Given the description of an element on the screen output the (x, y) to click on. 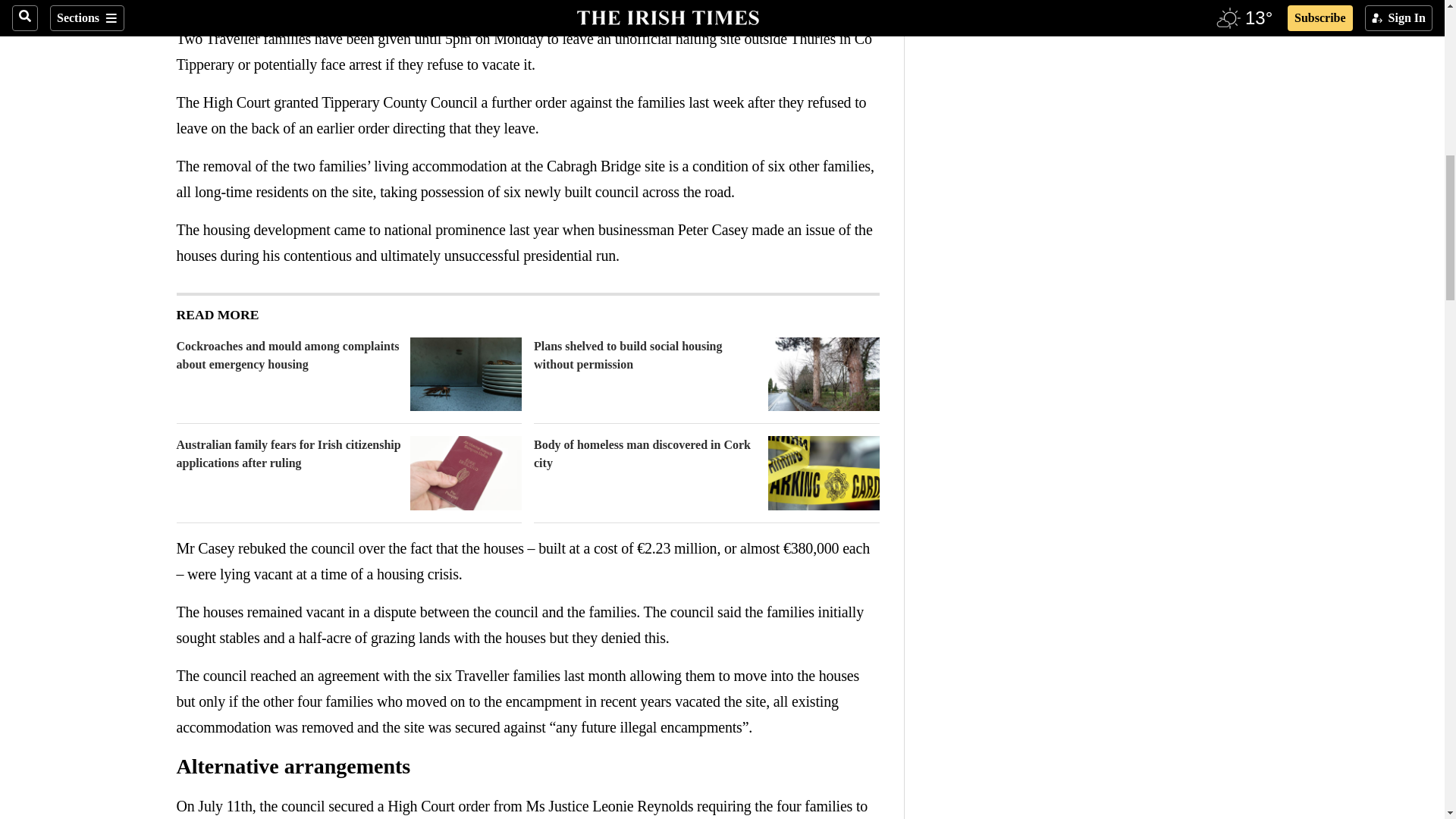
X (215, 6)
Facebook (184, 6)
WhatsApp (244, 6)
